Given the description of an element on the screen output the (x, y) to click on. 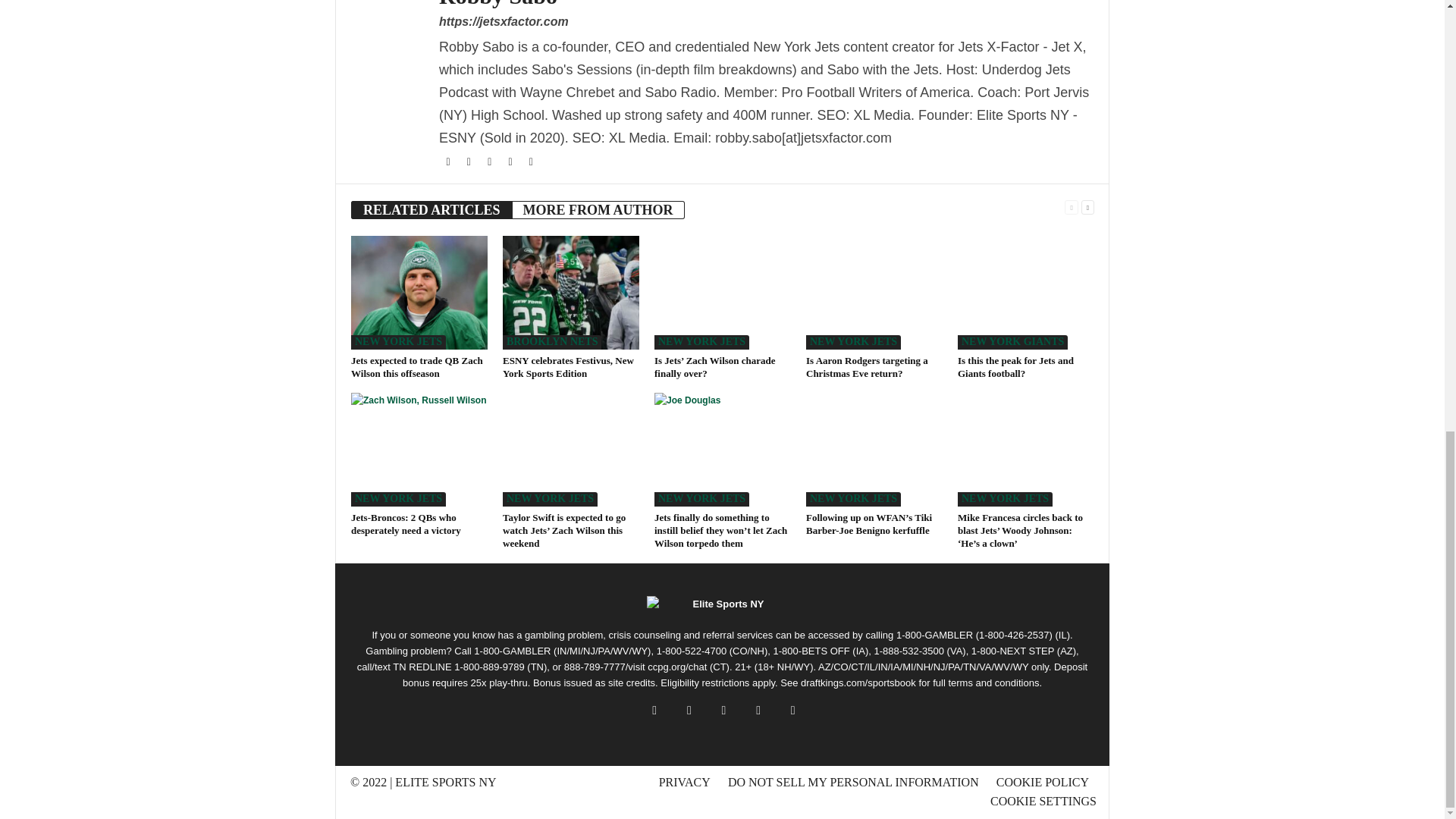
Youtube (510, 162)
Twitter (470, 162)
Jets expected to trade QB Zach Wilson this offseason (418, 292)
Linkedin (530, 162)
Facebook (449, 162)
Instagram (490, 162)
